Given the description of an element on the screen output the (x, y) to click on. 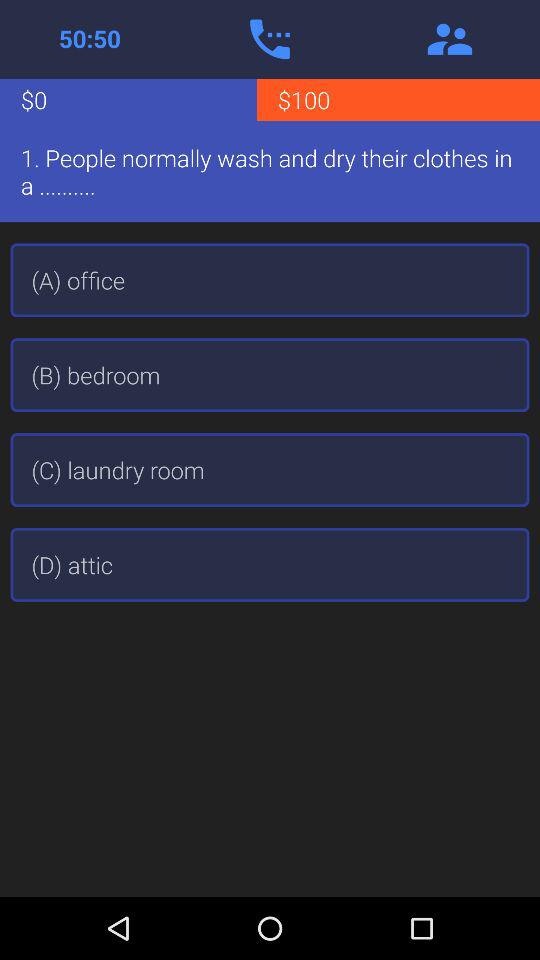
scroll to (b) bedroom app (269, 375)
